Given the description of an element on the screen output the (x, y) to click on. 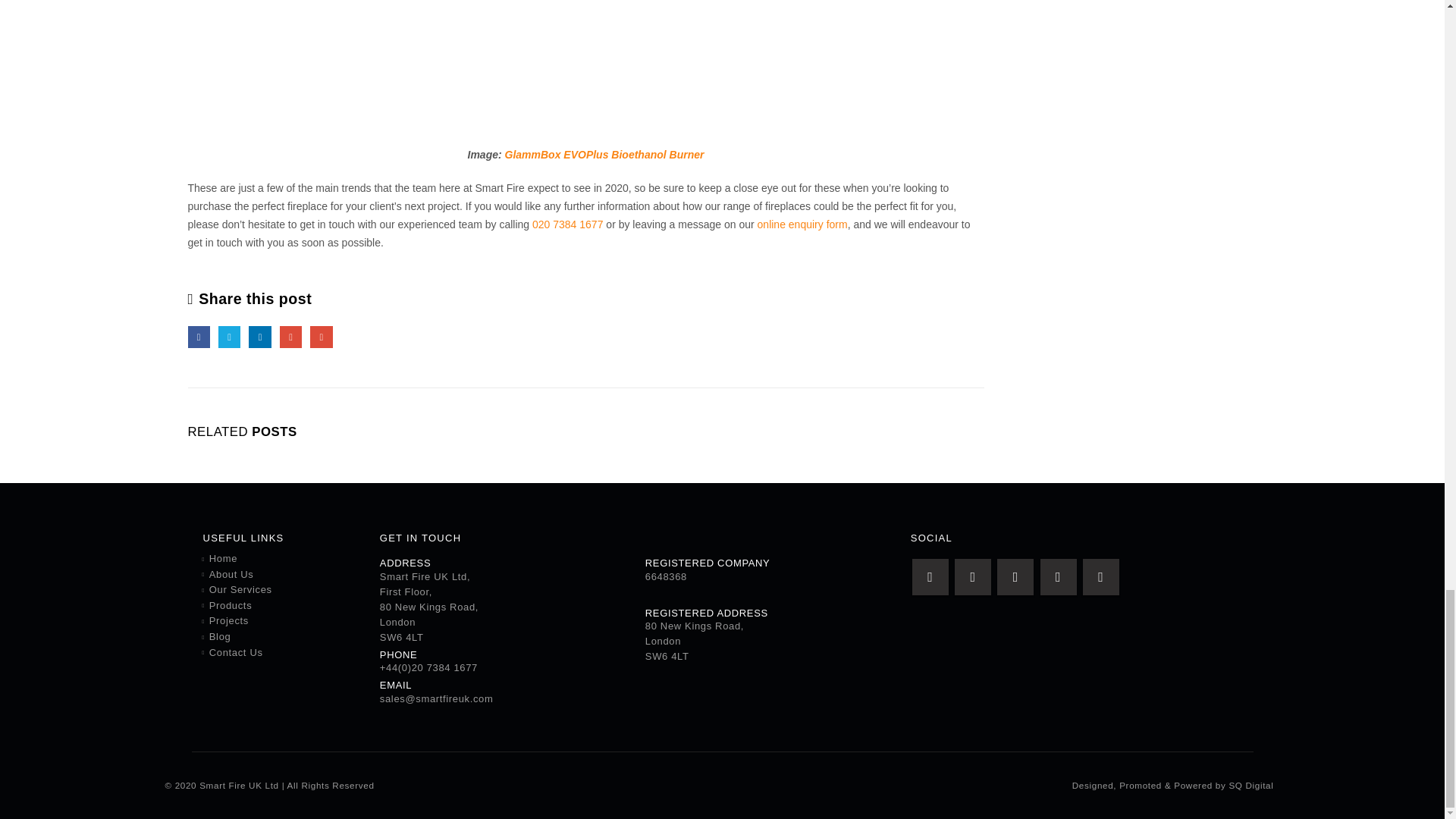
LinkedIn (259, 336)
Facebook (198, 336)
GlammBox EVOPlus Bioethanol Burner (604, 154)
020 7384 1677 (567, 224)
Pinterest (1059, 576)
online enquiry form (802, 224)
Facebook (930, 576)
Twitter (973, 576)
Email (320, 336)
Twitter (229, 336)
